Given the description of an element on the screen output the (x, y) to click on. 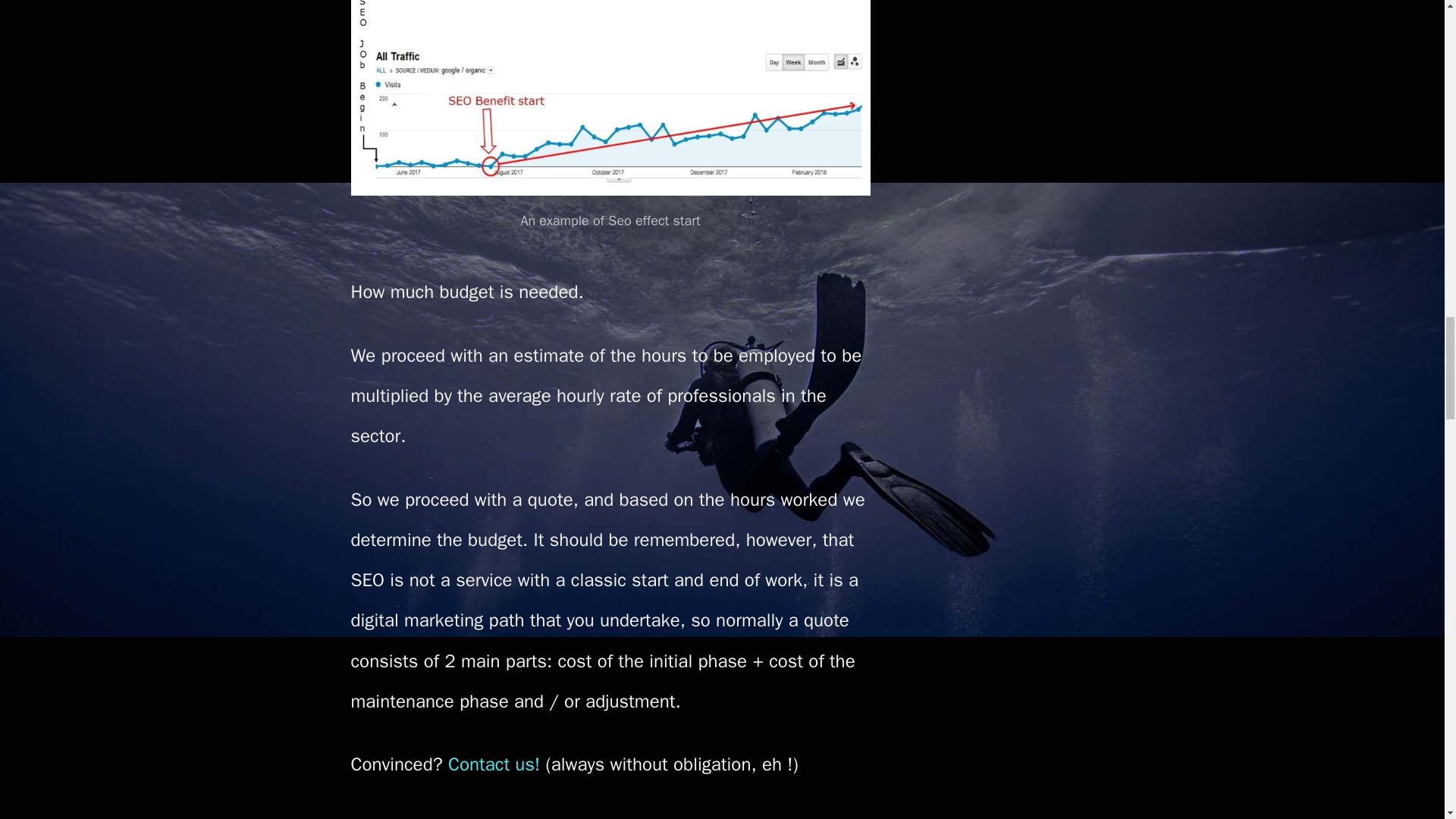
SEO begin (609, 97)
Contact us! (494, 763)
